Given the description of an element on the screen output the (x, y) to click on. 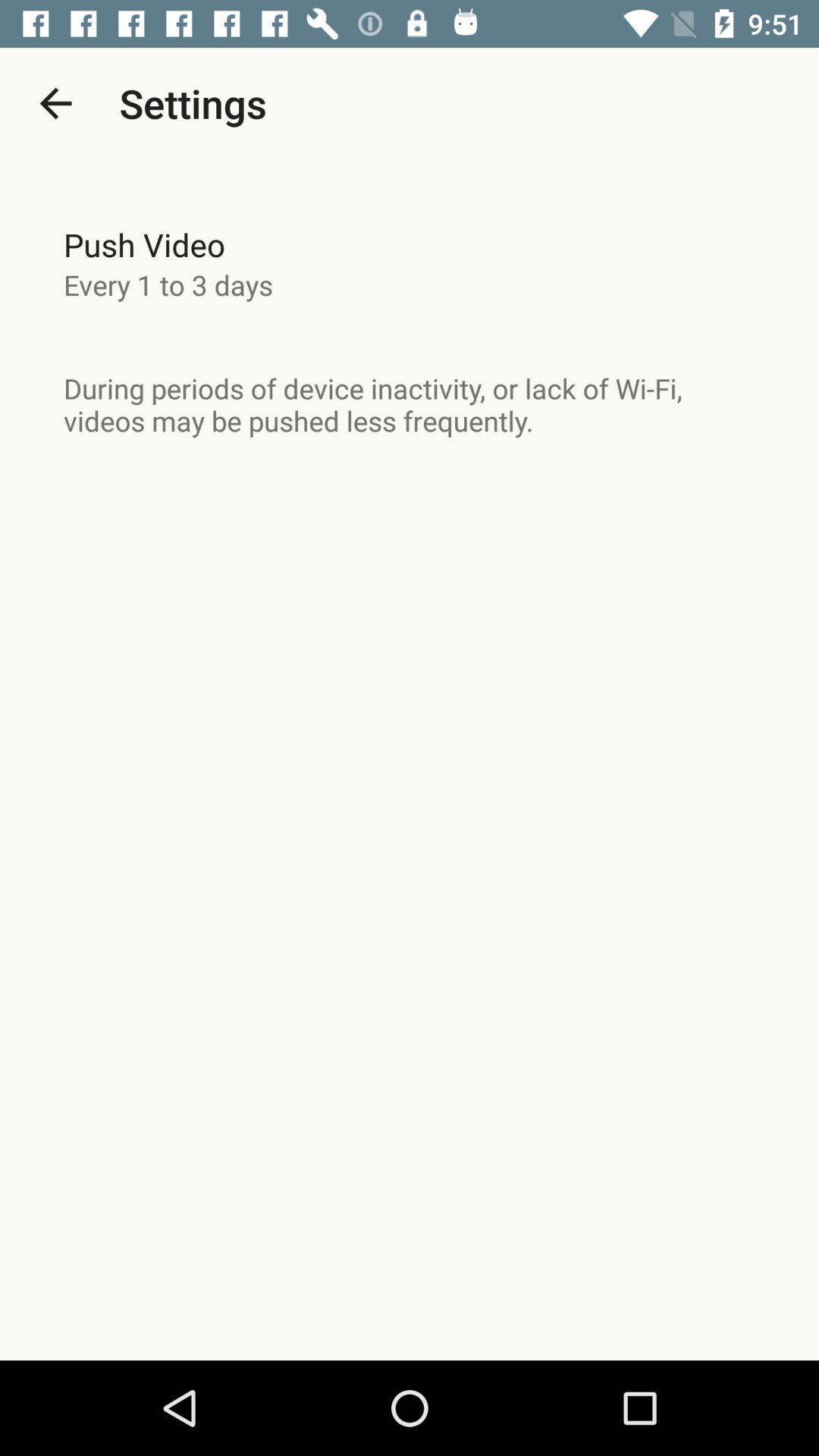
flip to the during periods of icon (409, 404)
